Given the description of an element on the screen output the (x, y) to click on. 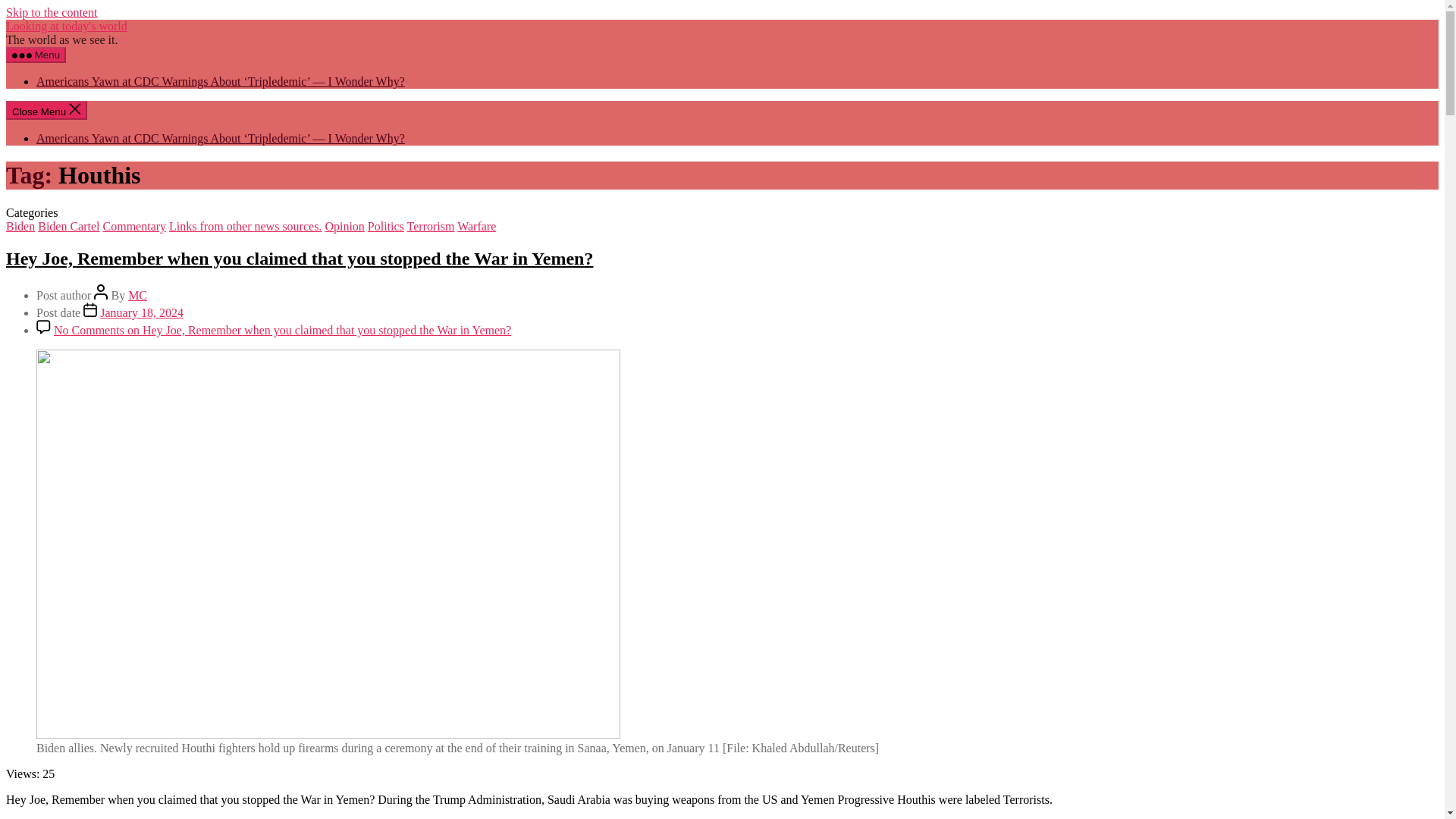
Links from other news sources. (244, 226)
January 18, 2024 (141, 312)
Looking at today's world (66, 25)
Warfare (476, 226)
Biden Cartel (68, 226)
Commentary (135, 226)
Menu (35, 54)
Terrorism (430, 226)
Opinion (344, 226)
MC (137, 295)
Skip to the content (51, 11)
Biden (19, 226)
Close Menu (46, 109)
